Given the description of an element on the screen output the (x, y) to click on. 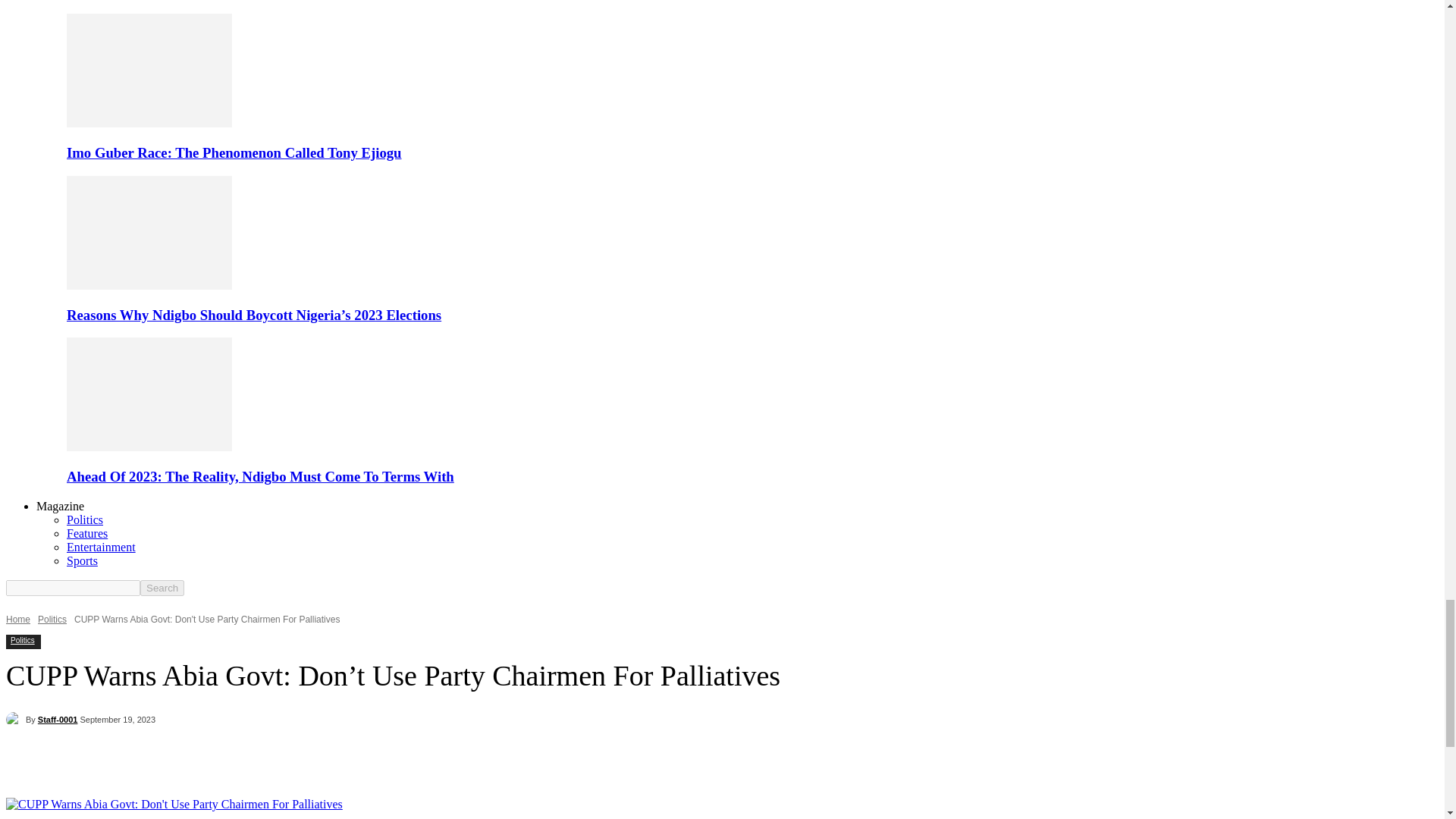
Search (161, 587)
